Given the description of an element on the screen output the (x, y) to click on. 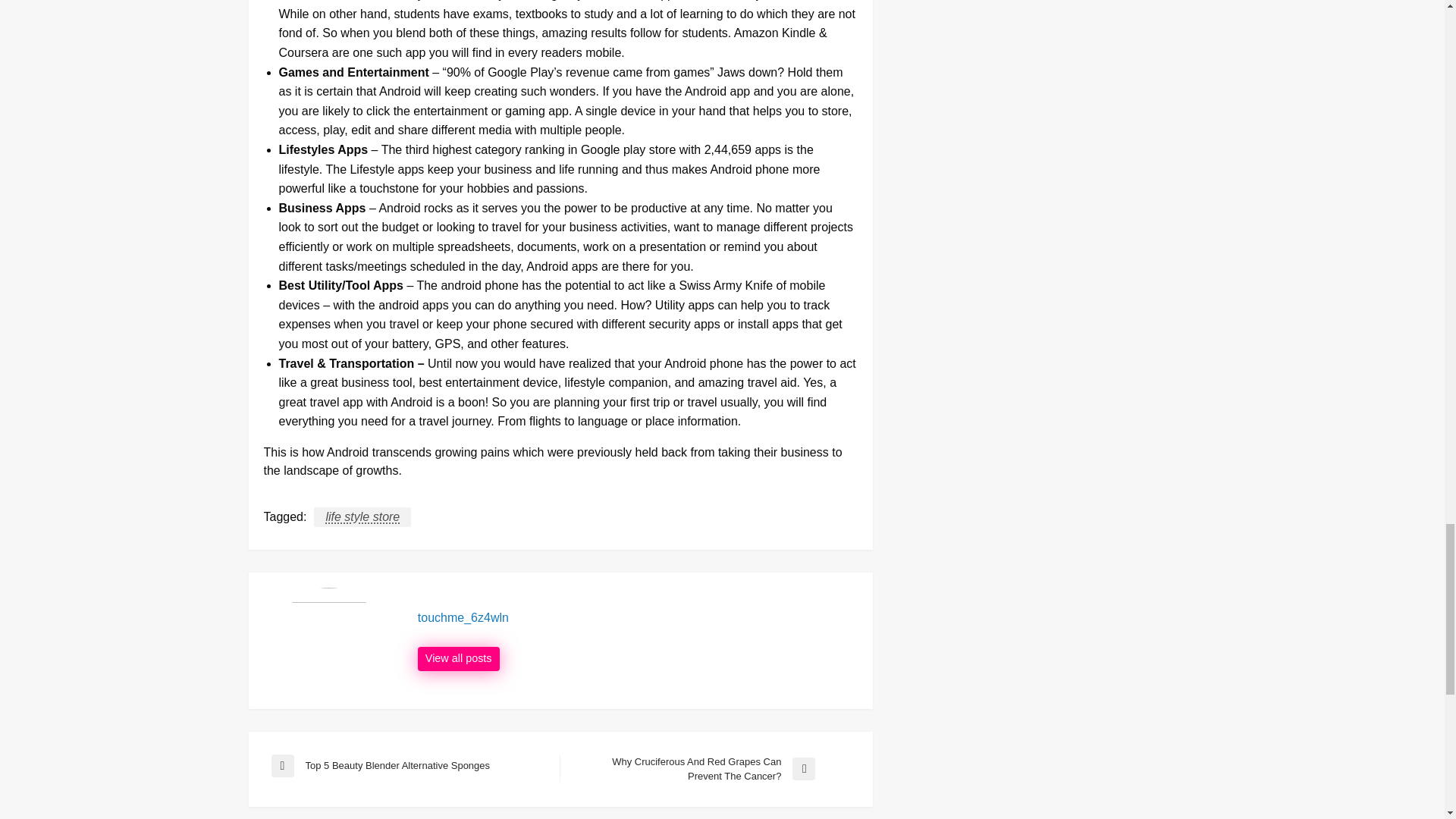
View all posts (415, 765)
life style store (458, 658)
